Given the description of an element on the screen output the (x, y) to click on. 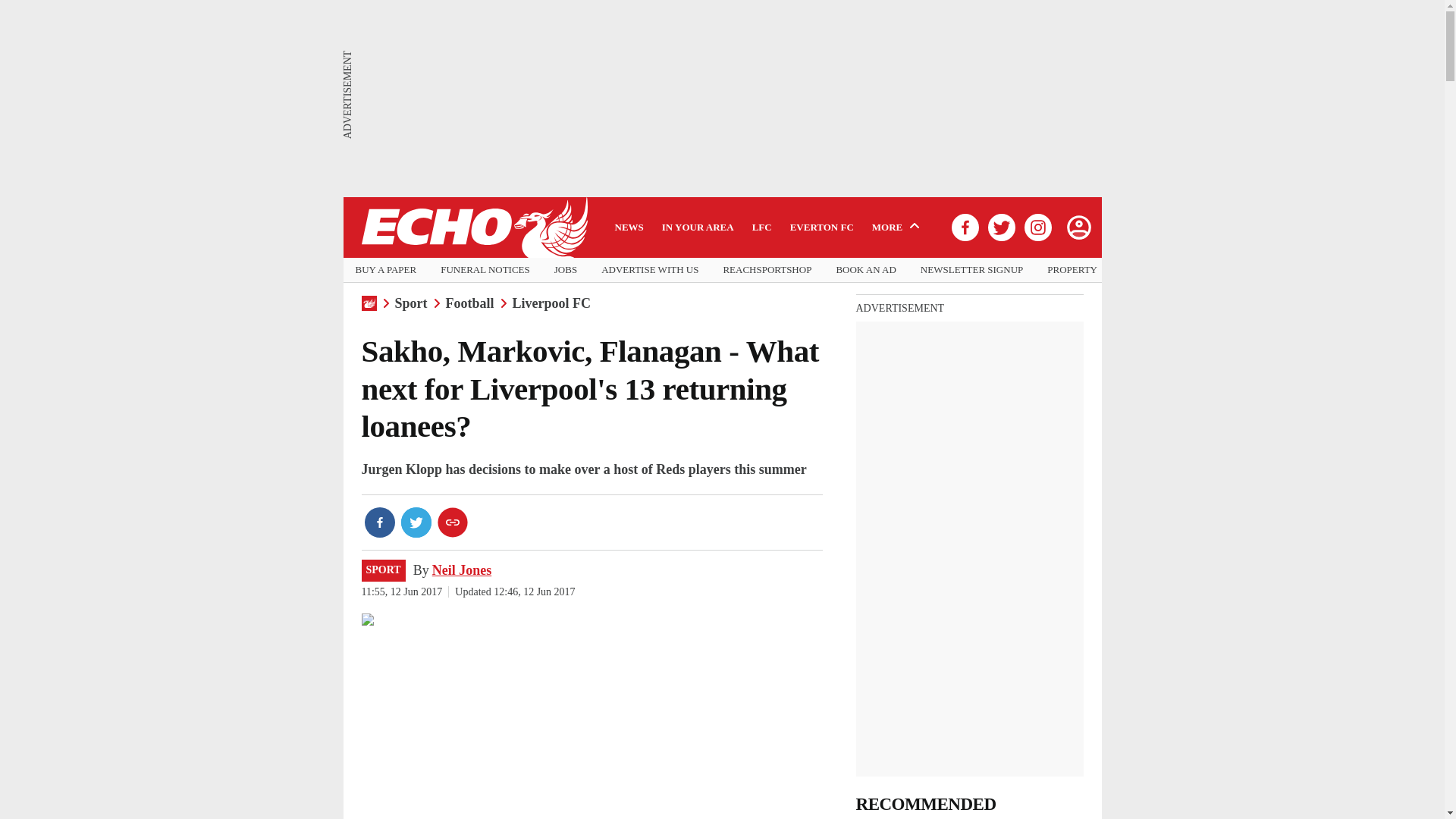
BOOK AN AD (865, 270)
Football (470, 303)
copy link (451, 521)
IN YOUR AREA (697, 227)
LFC (761, 227)
Sport (410, 303)
REACHSPORTSHOP (766, 270)
Go to the Liverpool Echo homepage (473, 227)
EVERTON FC (821, 227)
PROPERTY (1071, 270)
NEWS (628, 227)
SPORT (382, 570)
FUNERAL NOTICES (485, 270)
MORE (897, 227)
Liverpool FC (551, 303)
